Given the description of an element on the screen output the (x, y) to click on. 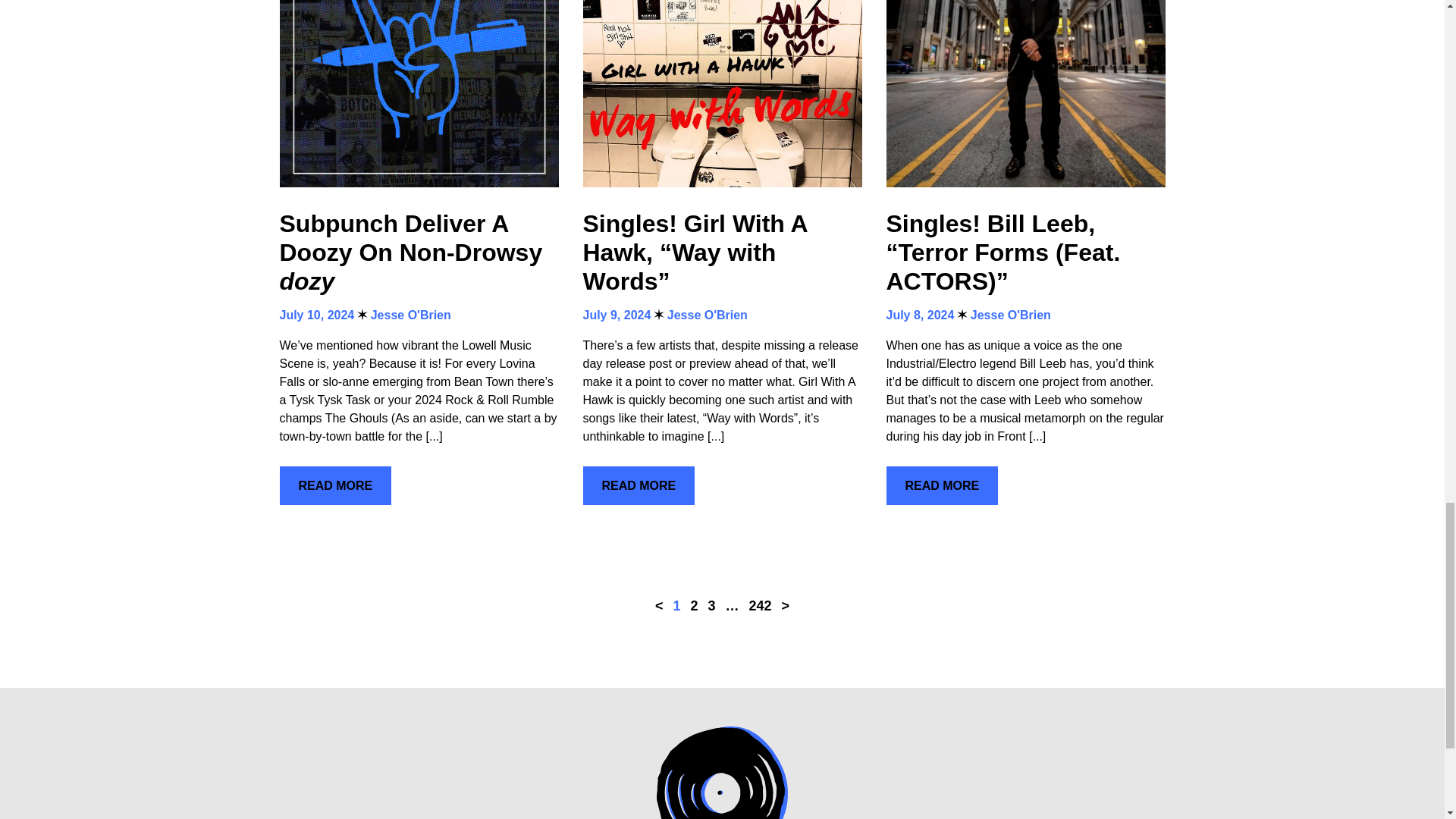
242 (760, 605)
